Given the description of an element on the screen output the (x, y) to click on. 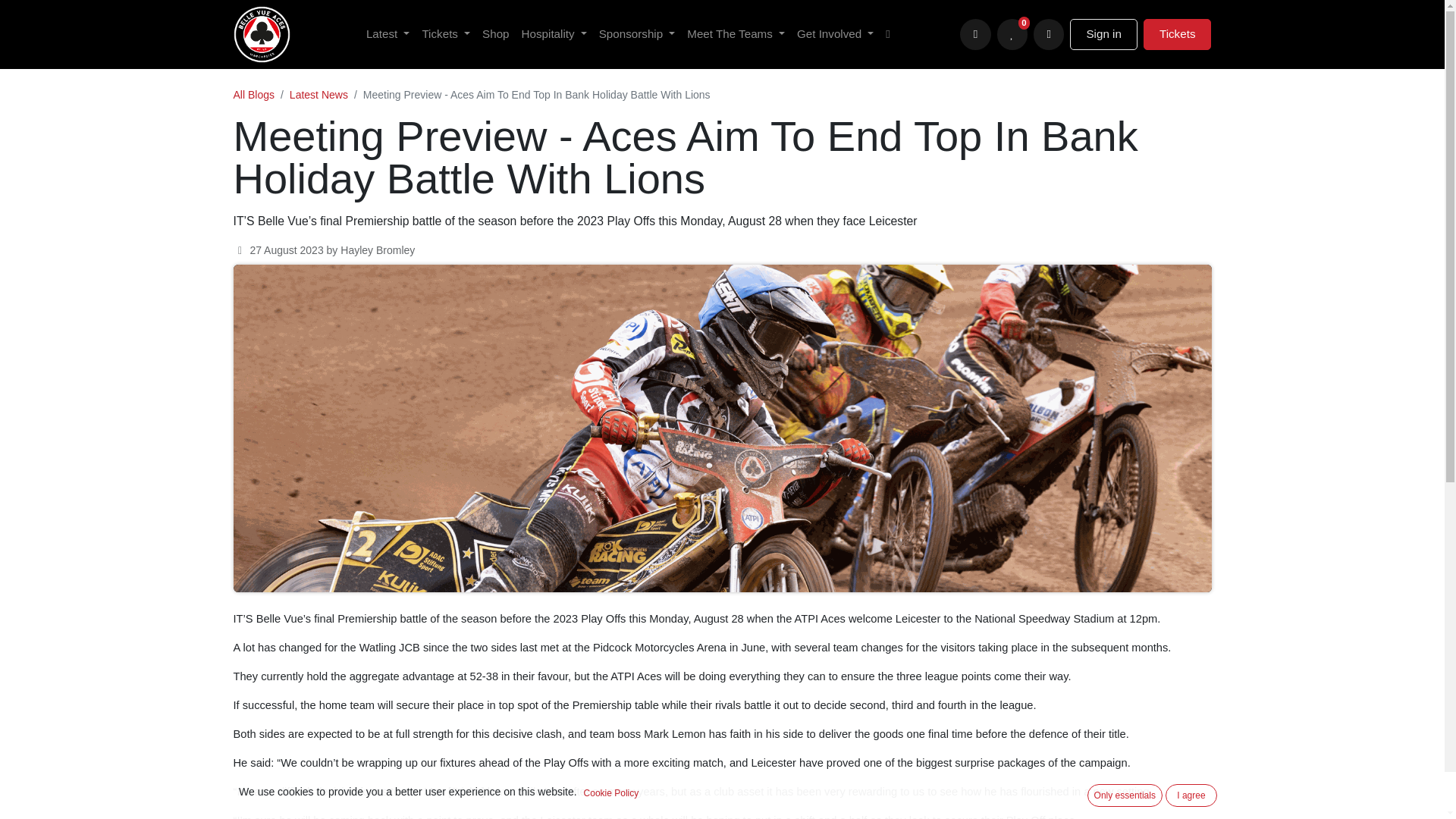
Shop (495, 34)
Hospitality (553, 34)
Tickets (445, 34)
Sponsorship (636, 34)
Sign in (1103, 33)
0 (1012, 33)
Meet The Teams (735, 34)
Latest (386, 34)
Get Involved (834, 34)
Belle Vue Speedway (260, 34)
